Given the description of an element on the screen output the (x, y) to click on. 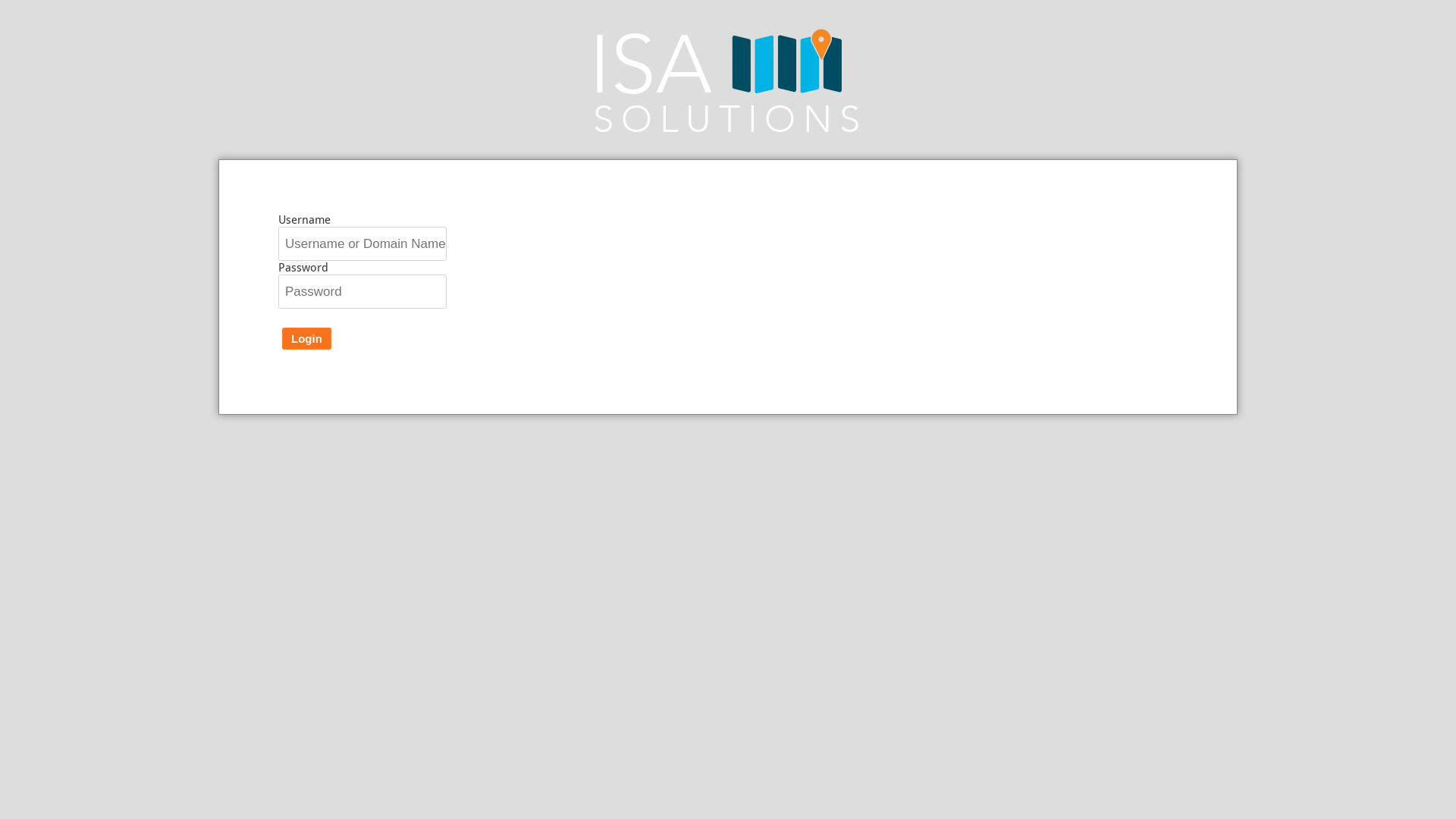
Login Element type: text (306, 338)
